Given the description of an element on the screen output the (x, y) to click on. 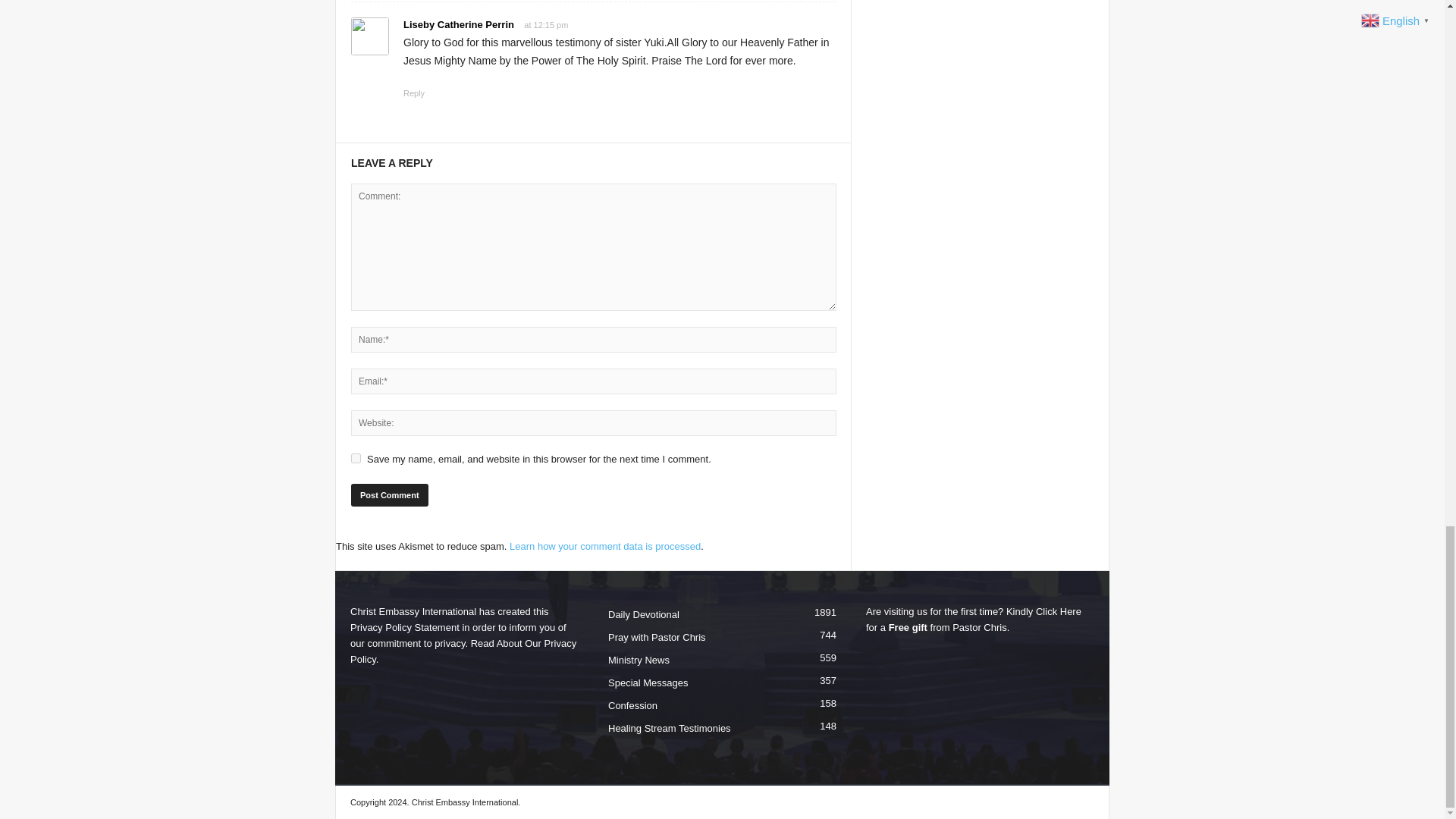
Post Comment (389, 495)
yes (355, 458)
